Given the description of an element on the screen output the (x, y) to click on. 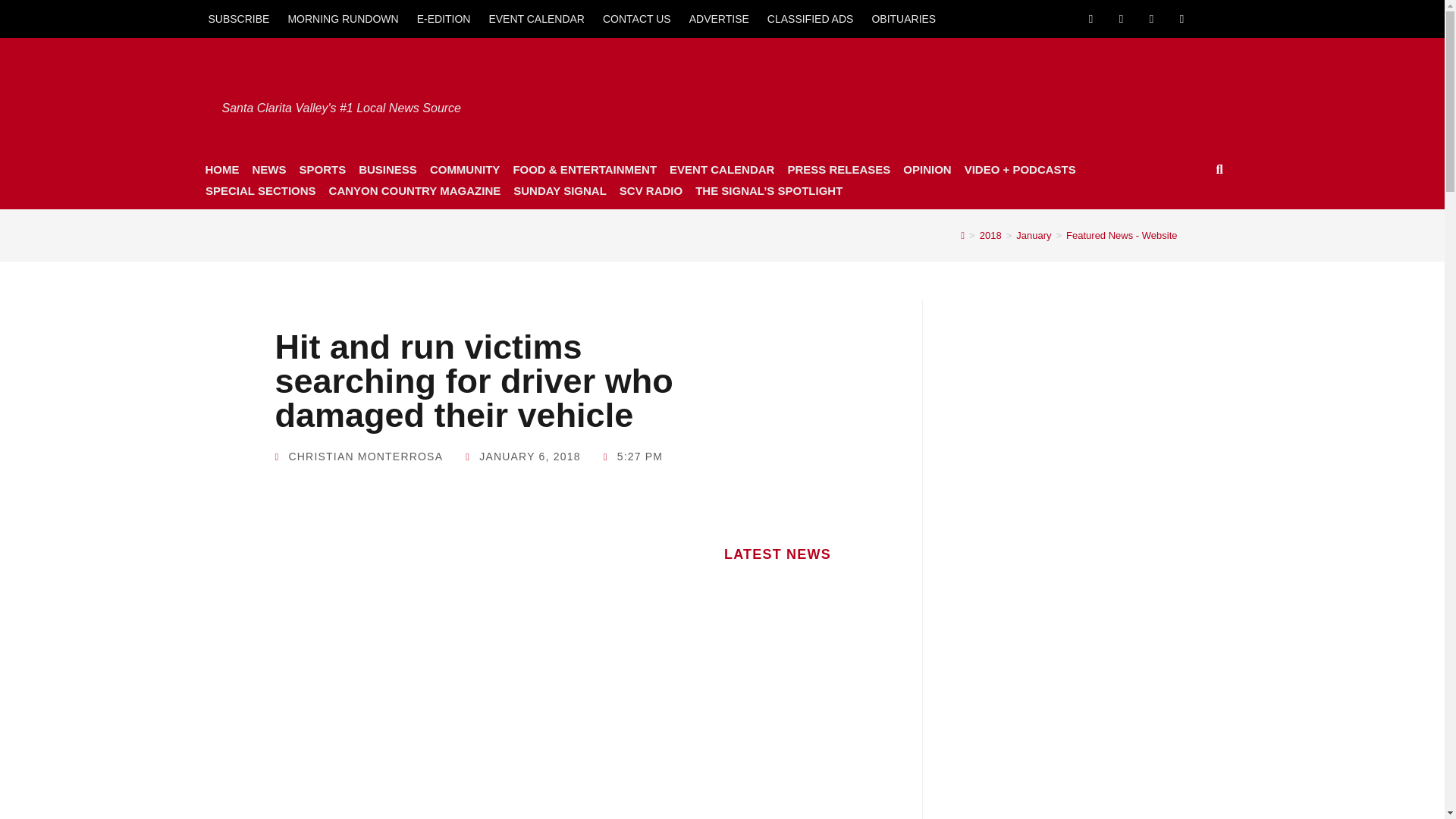
OBITUARIES (902, 18)
NEWS (269, 169)
SUBSCRIBE (238, 18)
SPORTS (322, 169)
HOME (221, 169)
E-EDITION (443, 18)
ADVERTISE (718, 18)
MORNING RUNDOWN (342, 18)
EVENT CALENDAR (536, 18)
CLASSIFIED ADS (810, 18)
